Given the description of an element on the screen output the (x, y) to click on. 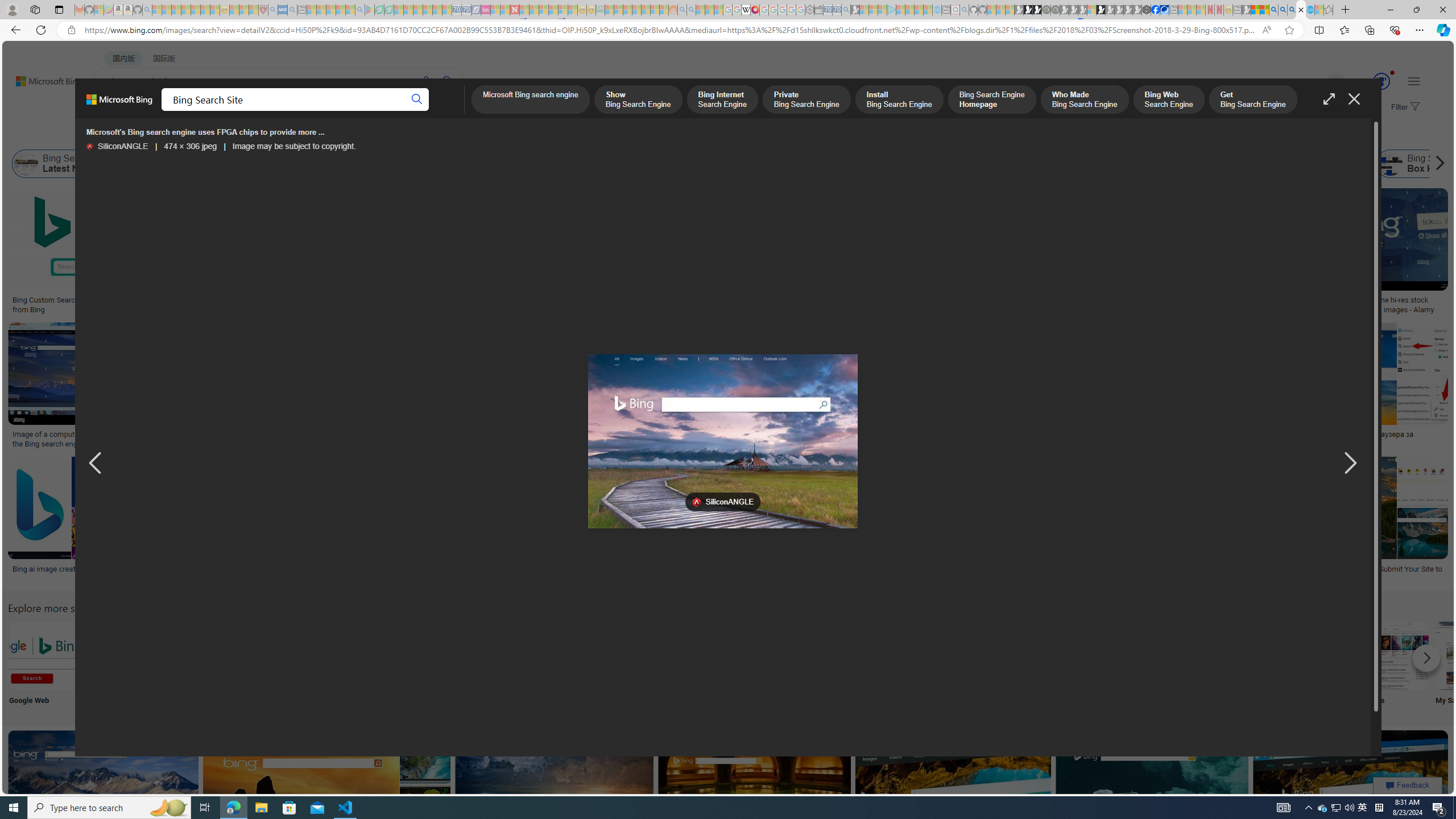
T-Shirts (802, 227)
Target page - Wikipedia (745, 9)
Bing Search Tricks (1319, 654)
Bing the Search Engine Engine (868, 665)
Scroll right (1436, 163)
Bing Home Screen (355, 163)
Bing the Search Engine (868, 654)
Bing AI - Search (1272, 9)
New tab - Sleeping (1236, 9)
FIX: Downloading proxy script message on Google Chrome (526, 573)
Class: b_pri_nav_svg (240, 112)
